Given the description of an element on the screen output the (x, y) to click on. 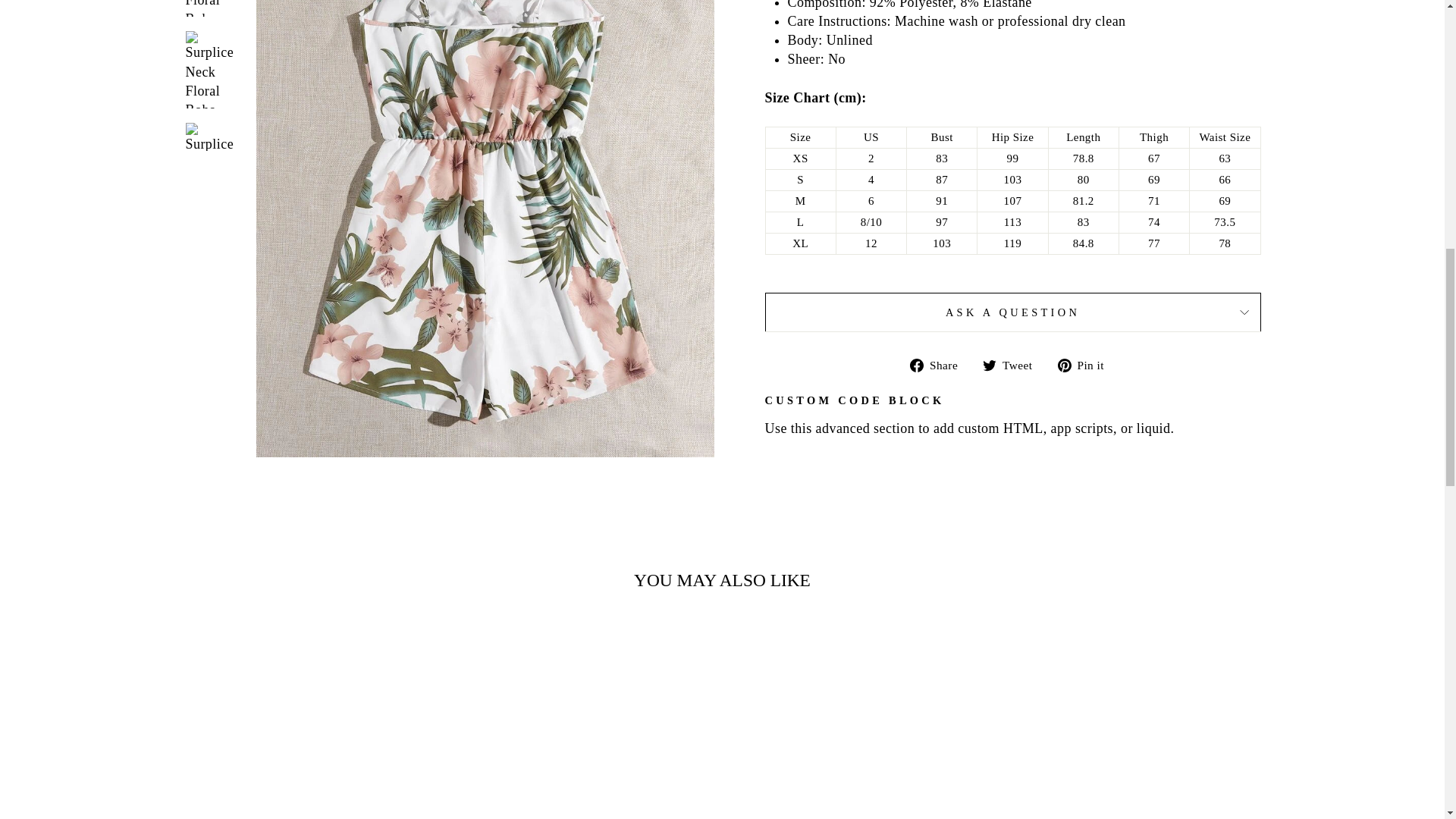
twitter (988, 365)
Share on Facebook (939, 363)
Tweet on Twitter (1012, 363)
Pin on Pinterest (1086, 363)
